Given the description of an element on the screen output the (x, y) to click on. 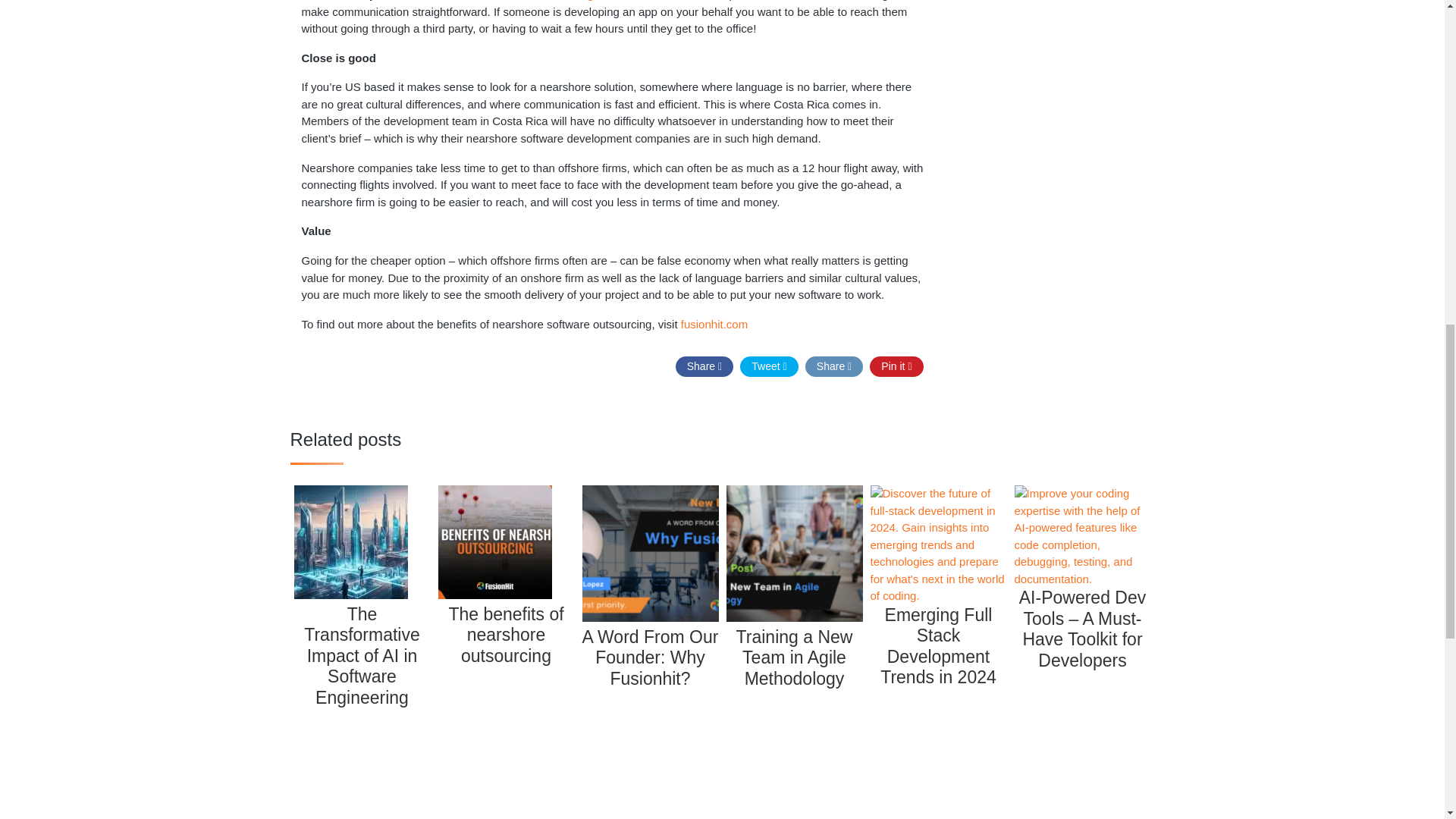
Emerging Full Stack Development Trends in 2024 (938, 638)
Share this (704, 366)
Tweet (768, 366)
Training a New Team in Agile Methodology 5 (794, 553)
The benefits of nearshore outsourcing (506, 627)
Share this (834, 366)
Tweet this (768, 366)
The Transformative Impact of AI in Software Engineering (362, 648)
fusionhit.com (714, 323)
The benefits of nearshore outsourcing 3 (494, 594)
Training a New Team in Agile Methodology (794, 649)
A Word From Our Founder: Why Fusionhit? 4 (650, 553)
Share (704, 366)
The Transformative Impact of AI in Software Engineering 2 (350, 594)
